Given the description of an element on the screen output the (x, y) to click on. 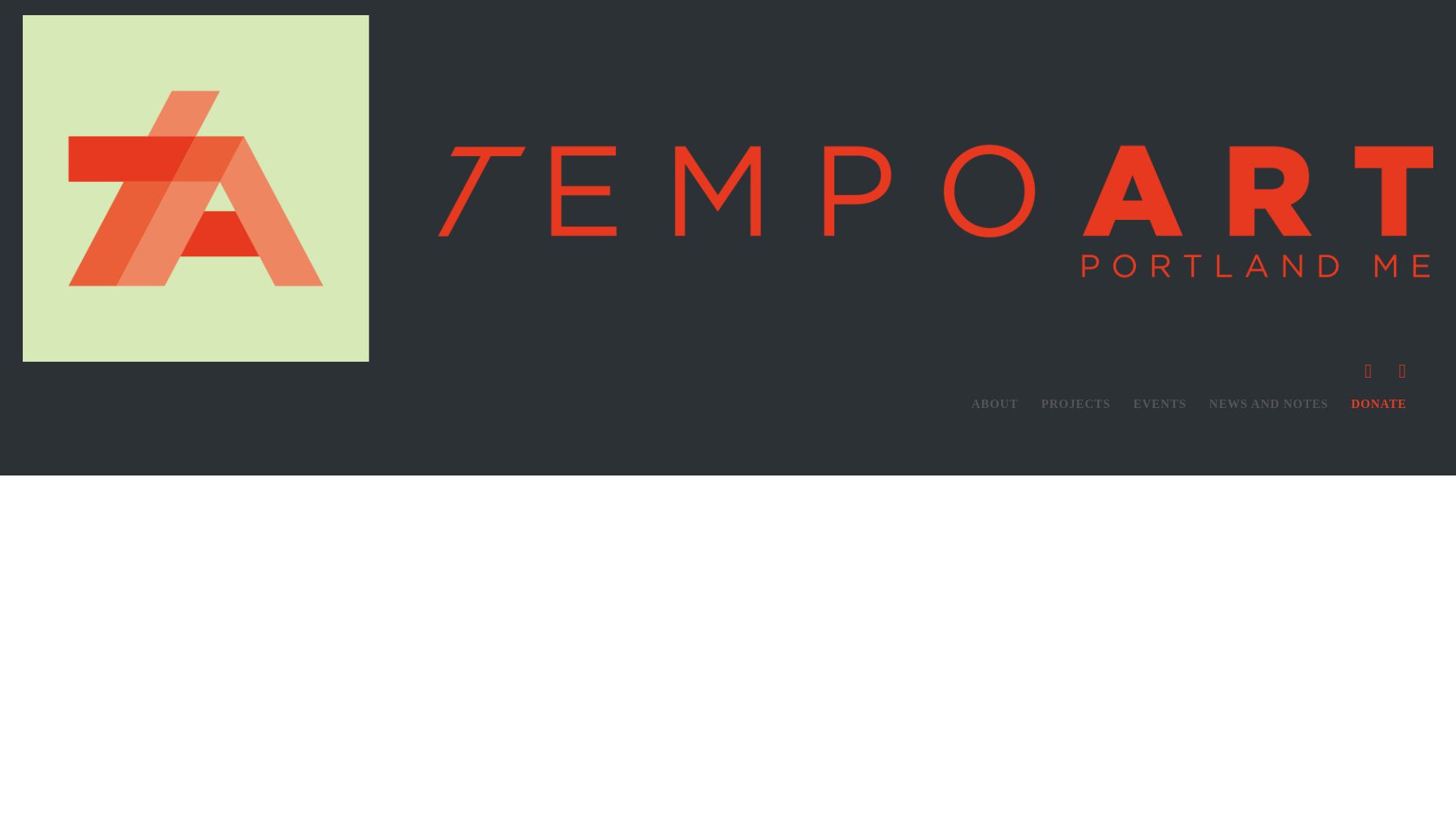
EVENTS (1160, 403)
DONATE (1378, 403)
ABOUT (994, 403)
PAST EVENTS (1160, 471)
SPONSORSHIP (1378, 437)
STRATEGIC PLAN: SHARE YOUR INPUT (994, 540)
NEWS AND NOTES (1268, 403)
PROJECTS (1075, 403)
UPCOMING EVENTS (1160, 437)
PARTNERSHIPS (994, 471)
